Given the description of an element on the screen output the (x, y) to click on. 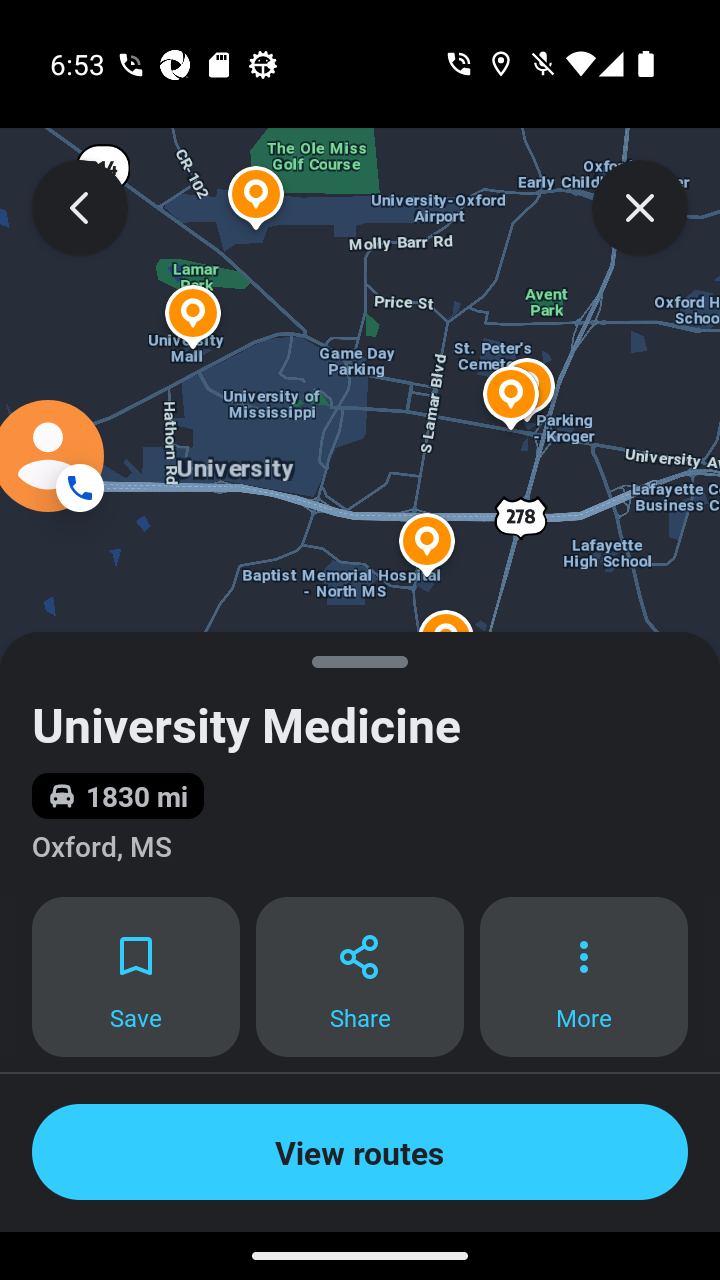
University Medicine 1830 mi Oxford, MS (360, 764)
Save (135, 977)
Share (359, 977)
More (584, 977)
View routes (359, 1151)
